Given the description of an element on the screen output the (x, y) to click on. 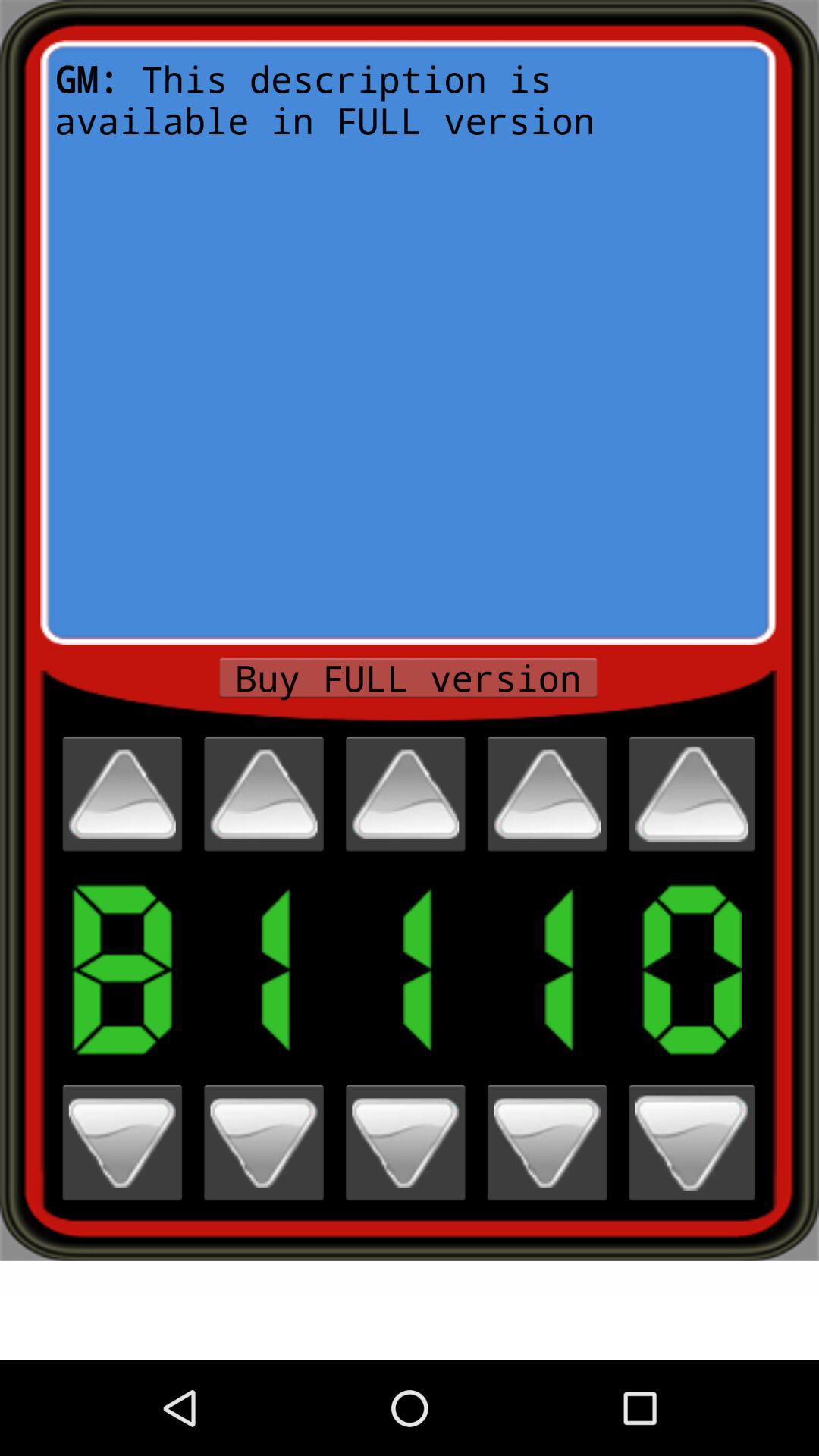
choose icon above the buy full version (408, 342)
